Given the description of an element on the screen output the (x, y) to click on. 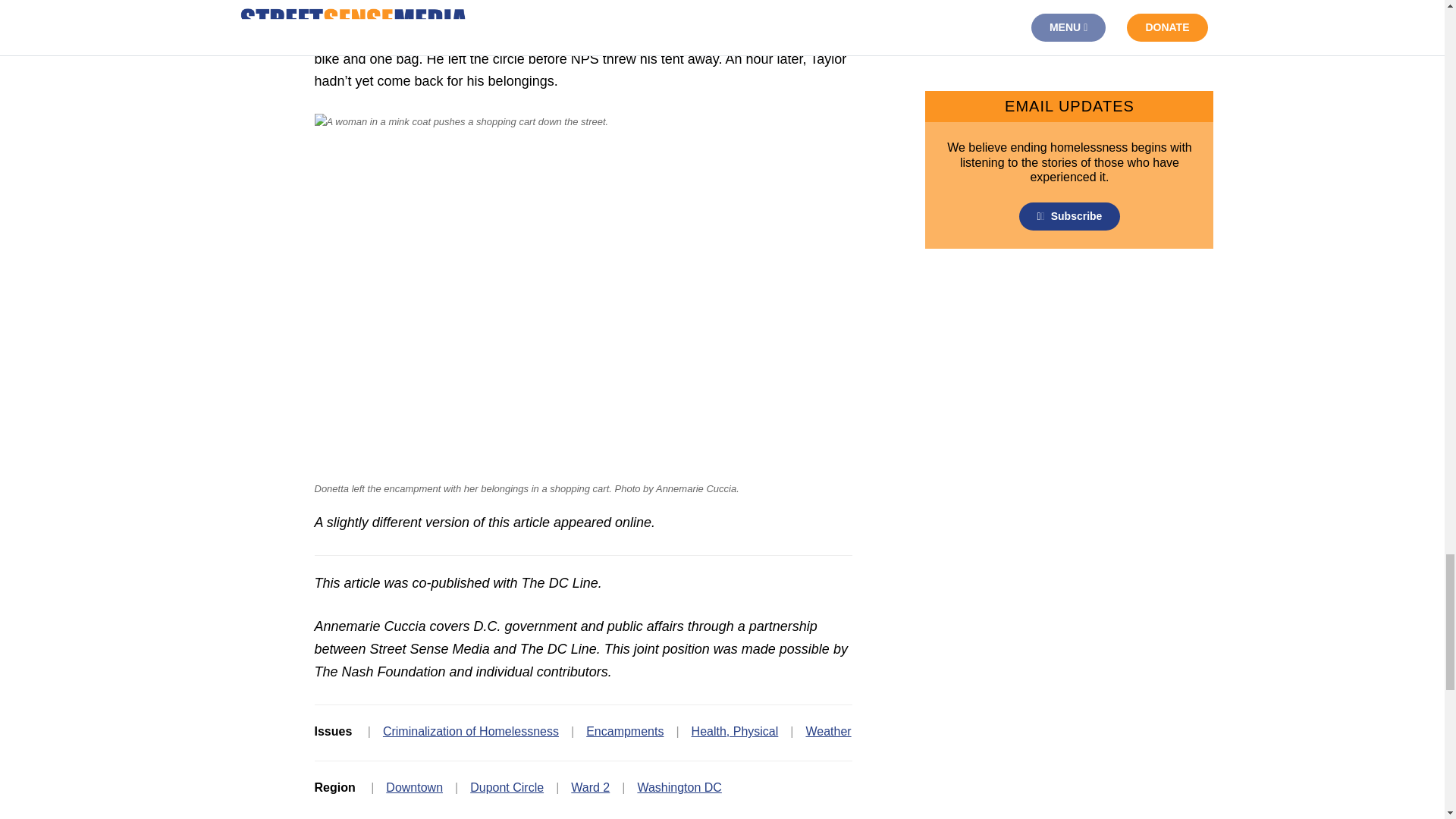
Downtown (413, 787)
Weather (827, 730)
Encampments (624, 730)
Dupont Circle (506, 787)
Washington DC (678, 787)
Criminalization of Homelessness (470, 730)
Health, Physical (734, 730)
Ward 2 (590, 787)
